Given the description of an element on the screen output the (x, y) to click on. 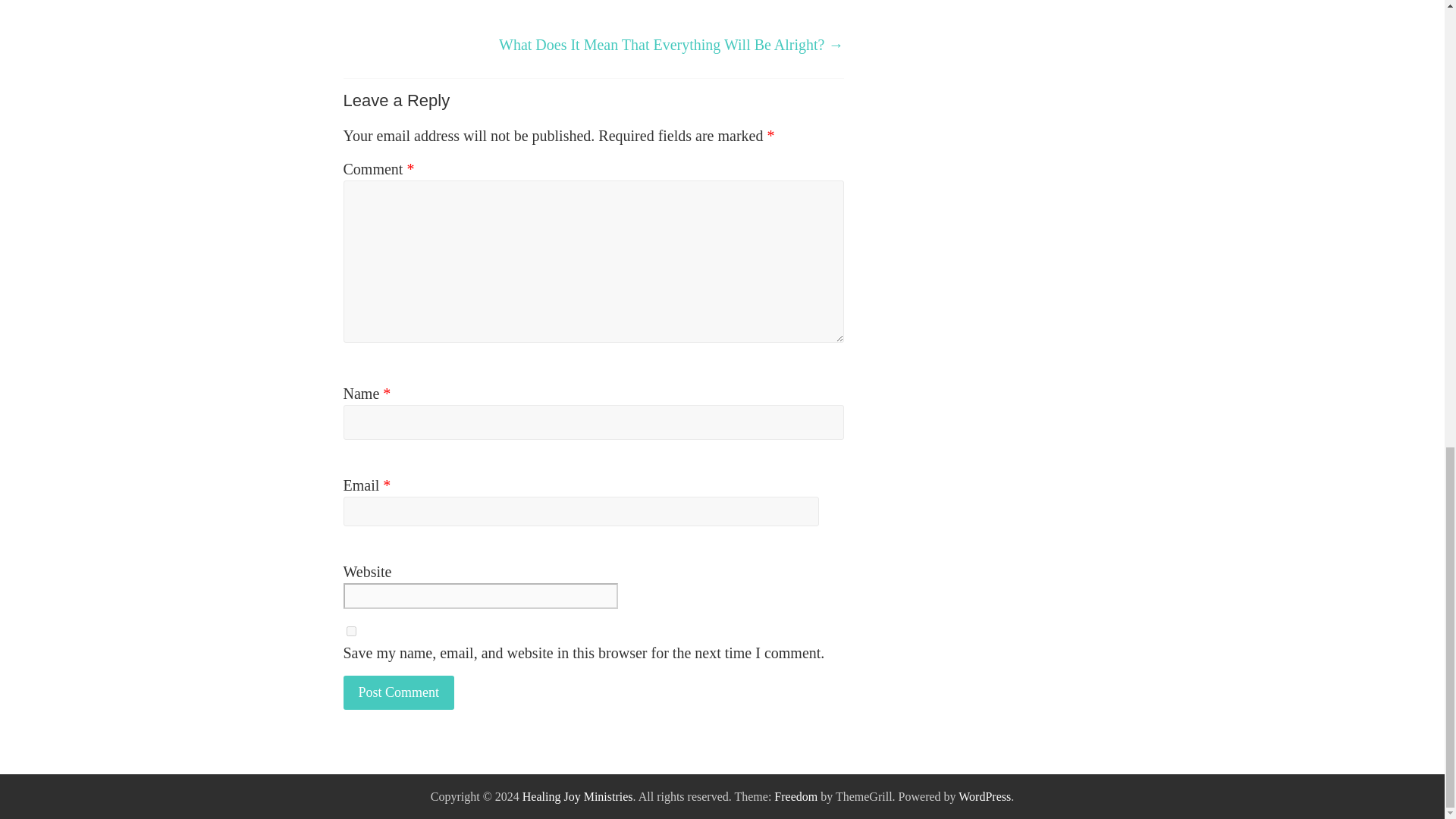
Healing Joy Ministries (577, 796)
WordPress (984, 796)
WordPress (984, 796)
Freedom (795, 796)
Healing Joy Ministries (577, 796)
Freedom (795, 796)
Post Comment (398, 692)
Post Comment (398, 692)
yes (350, 631)
